Given the description of an element on the screen output the (x, y) to click on. 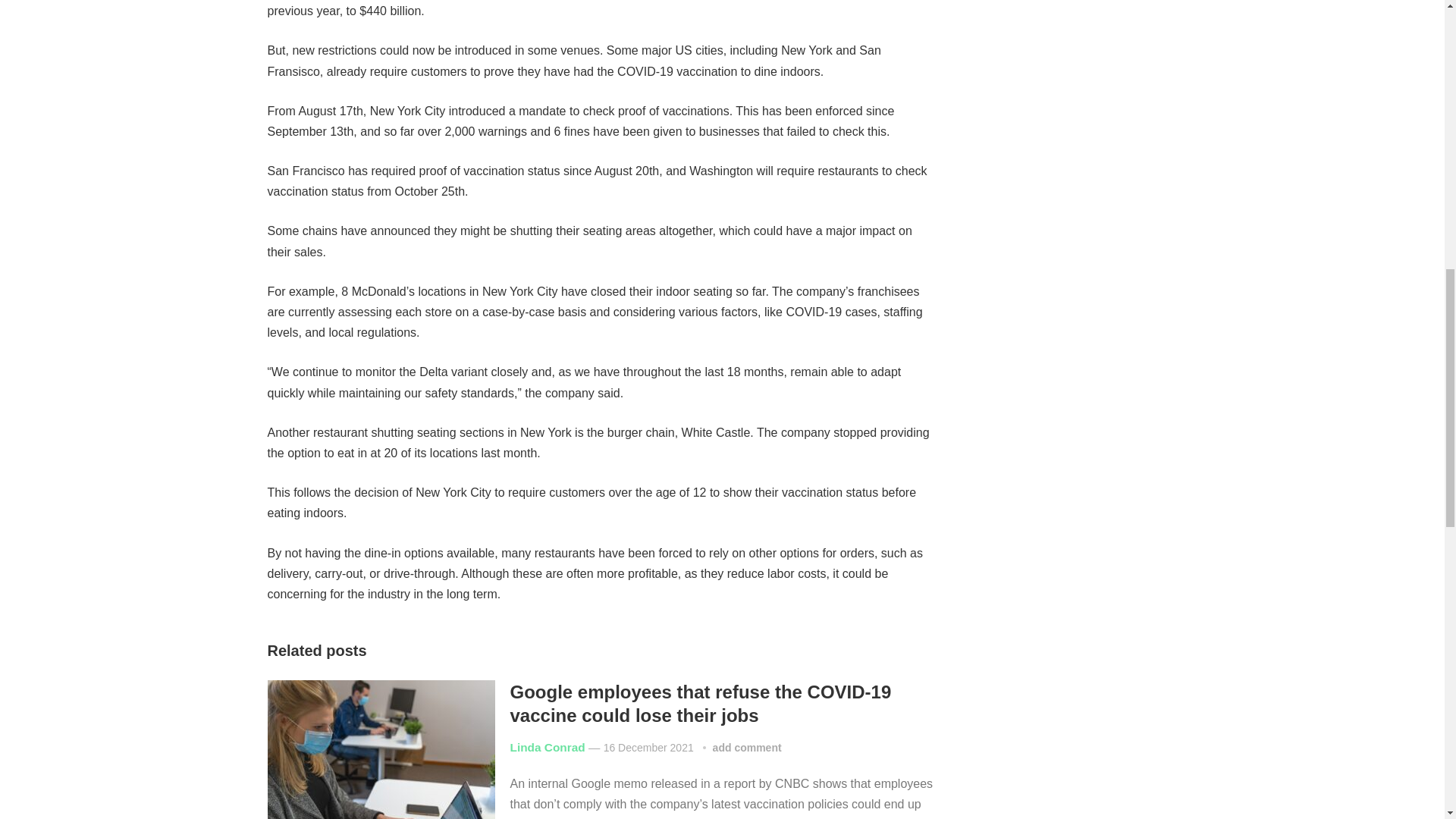
Posts by Linda Conrad (547, 747)
add comment (747, 747)
Linda Conrad (547, 747)
